Given the description of an element on the screen output the (x, y) to click on. 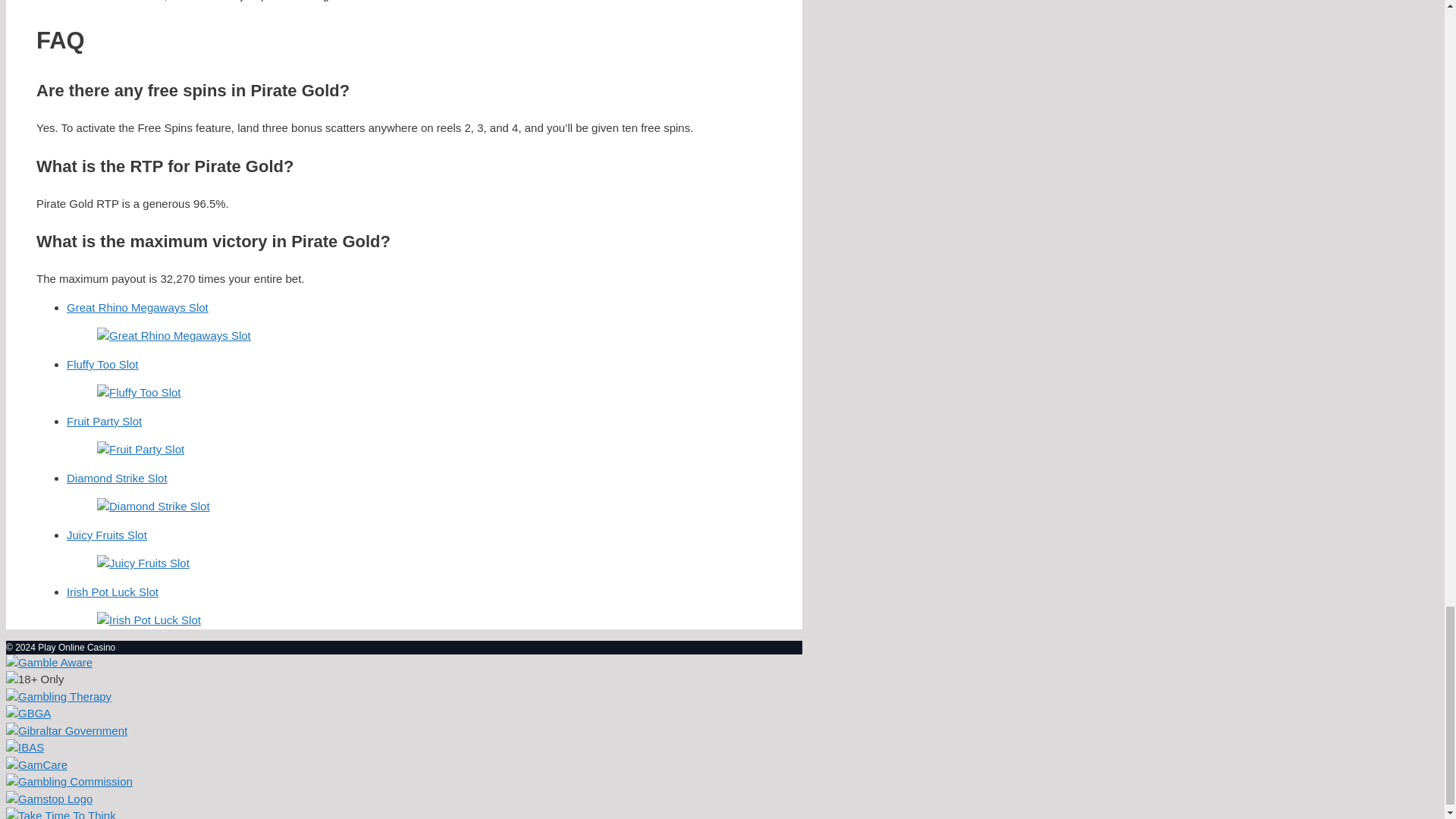
Diamond Strike Slot (418, 493)
Fluffy Too Slot (418, 379)
Great Rhino Megaways Slot (418, 322)
Juicy Fruits Slot (418, 550)
Fruit Party Slot (418, 436)
Irish Pot Luck Slot (418, 607)
